Given the description of an element on the screen output the (x, y) to click on. 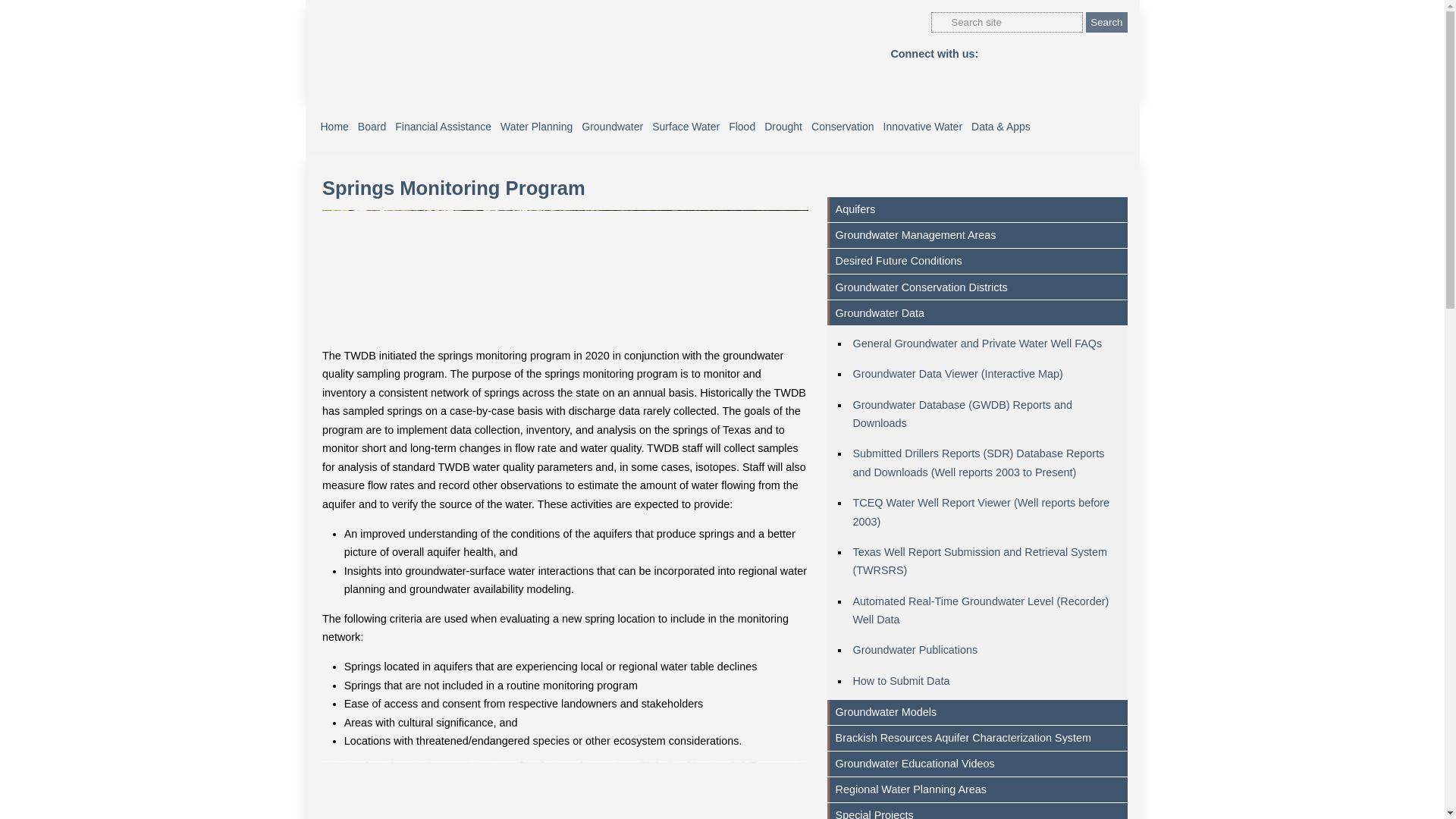
Facebook (993, 54)
LinkedIn (1042, 54)
LinkedIn (1042, 54)
YouTube (1067, 54)
YouTube (1067, 54)
Home (333, 126)
X (1017, 54)
Search (1106, 22)
Facebook (993, 54)
Instagram (1093, 54)
X (1017, 54)
Search (1106, 22)
Instagram (1093, 54)
Join Mail List (1117, 54)
Join Mail List (1117, 54)
